Given the description of an element on the screen output the (x, y) to click on. 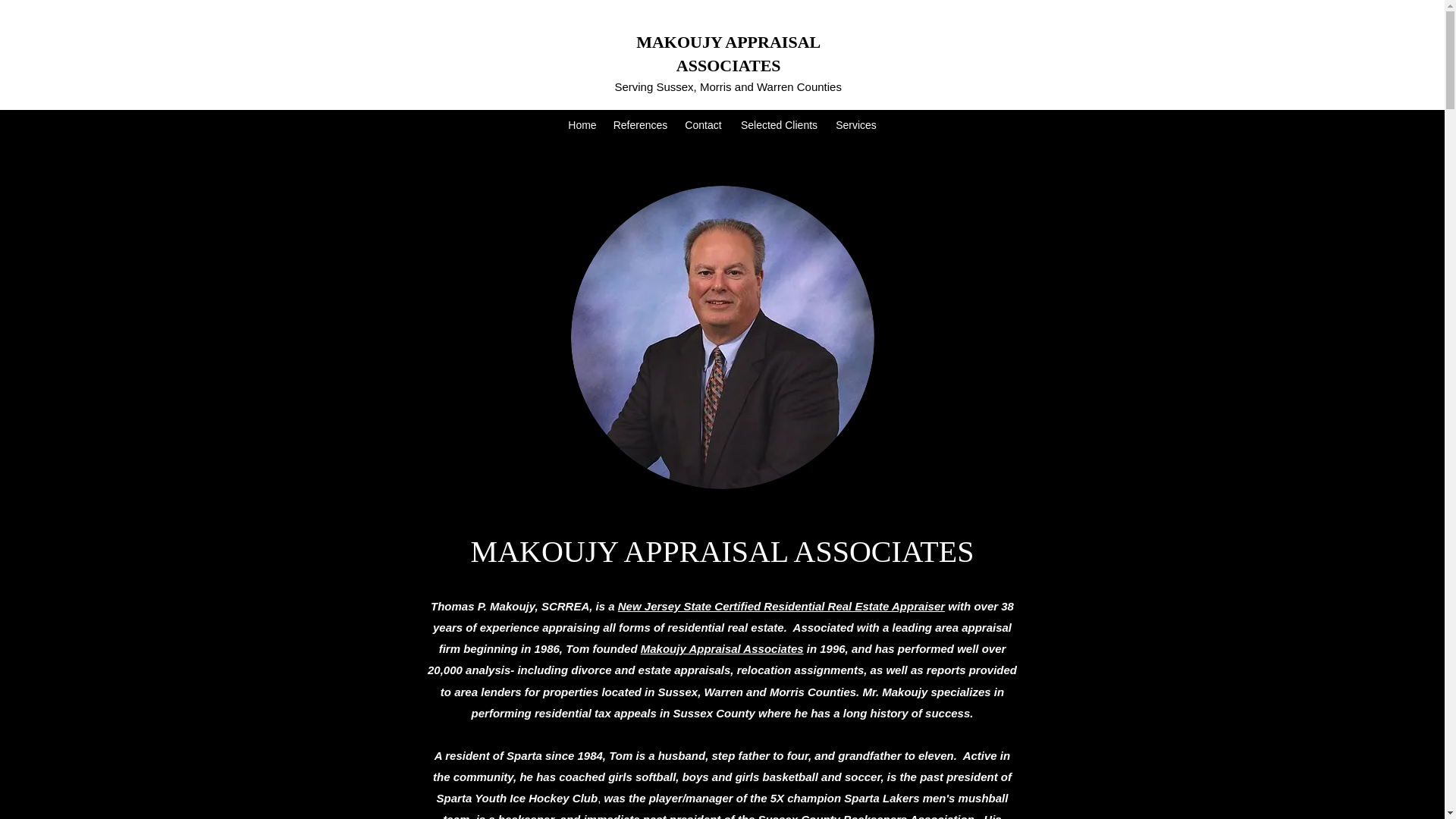
Services (855, 124)
MAKOUJY APPRAISAL ASSOCIATES (728, 53)
Home (581, 124)
Selected Clients (778, 124)
References (639, 124)
Contact (702, 124)
